Given the description of an element on the screen output the (x, y) to click on. 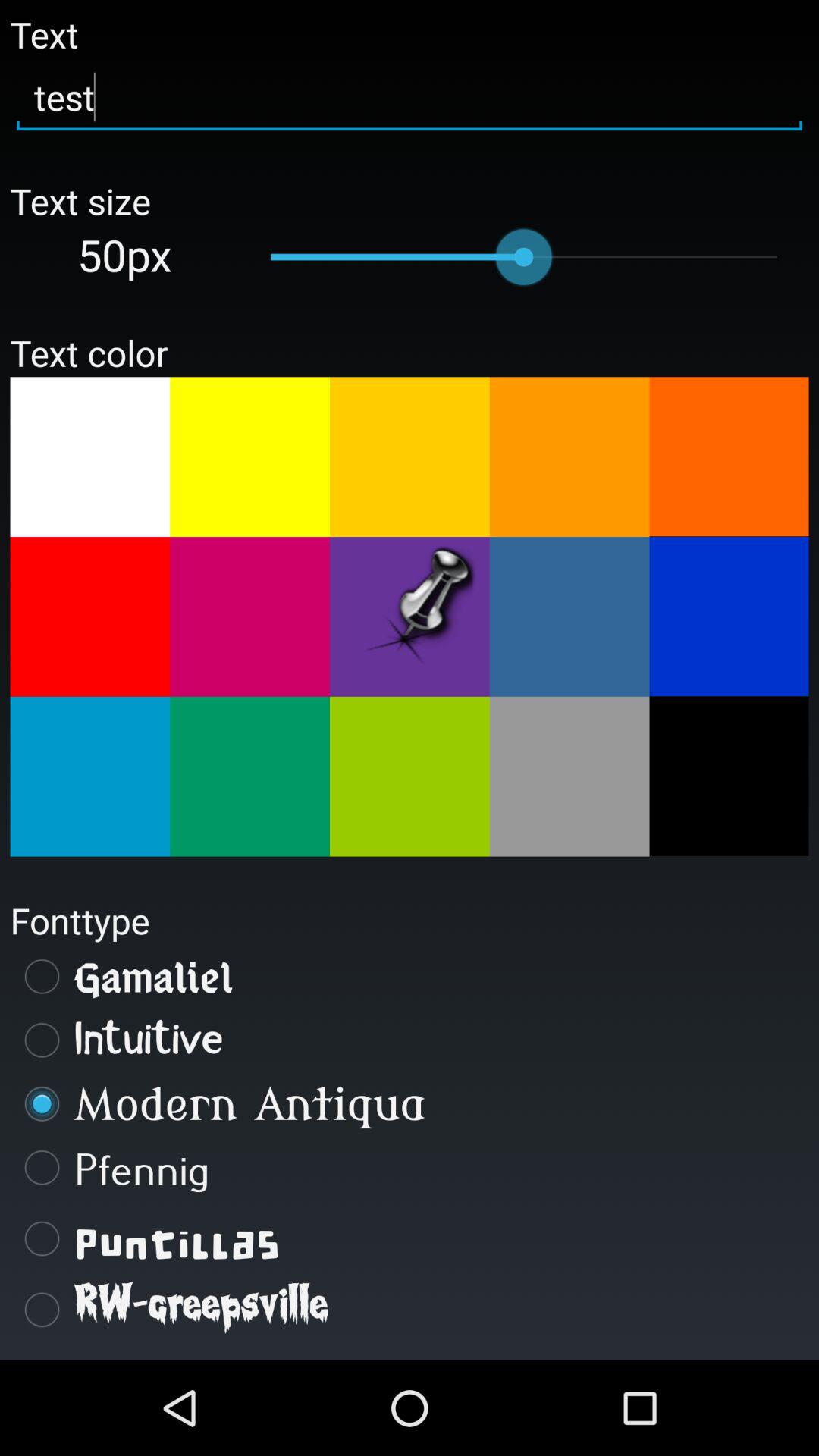
select a color (728, 616)
